Given the description of an element on the screen output the (x, y) to click on. 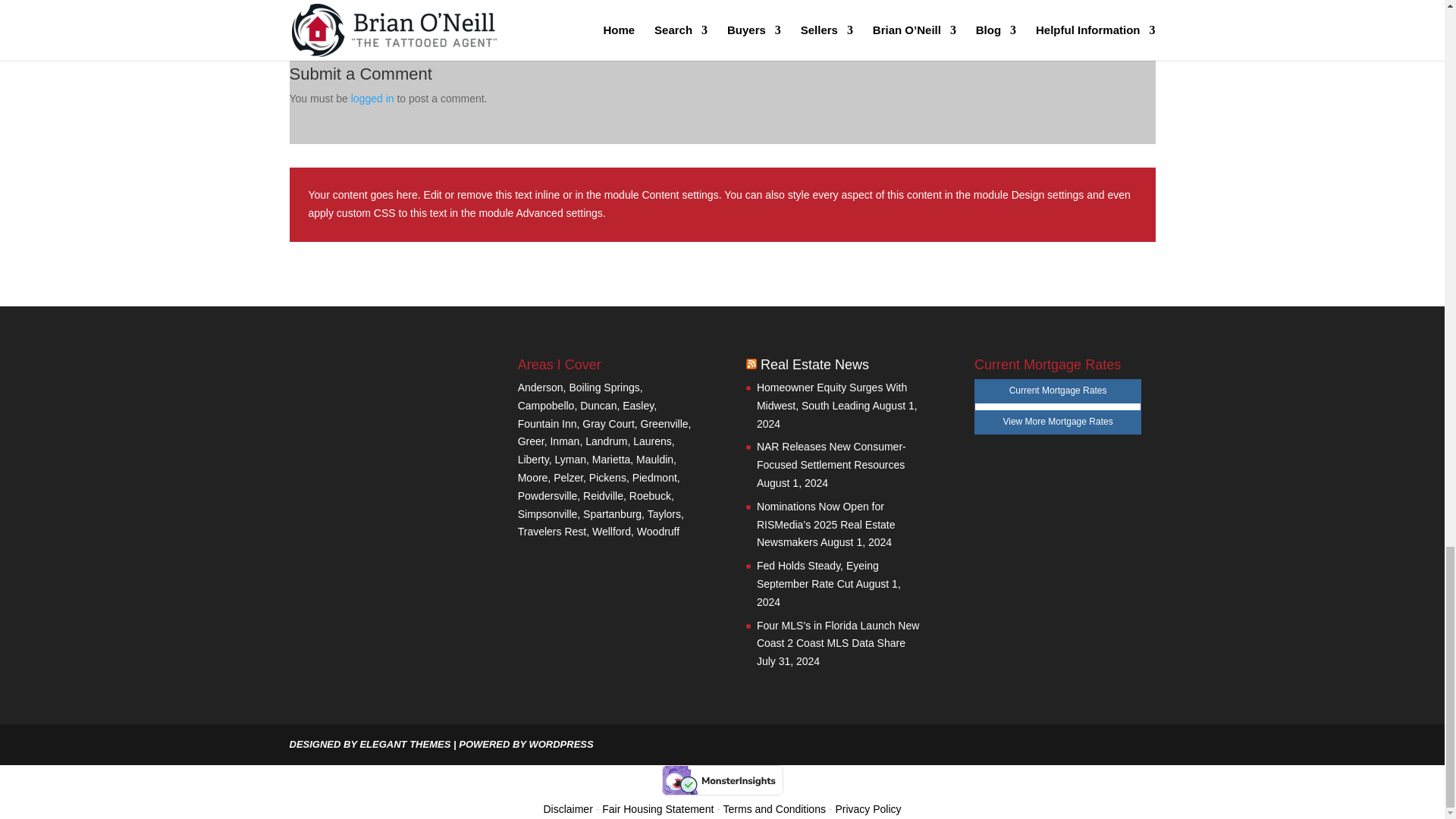
Verified by MonsterInsights (722, 779)
Premium WordPress Themes (404, 744)
